Given the description of an element on the screen output the (x, y) to click on. 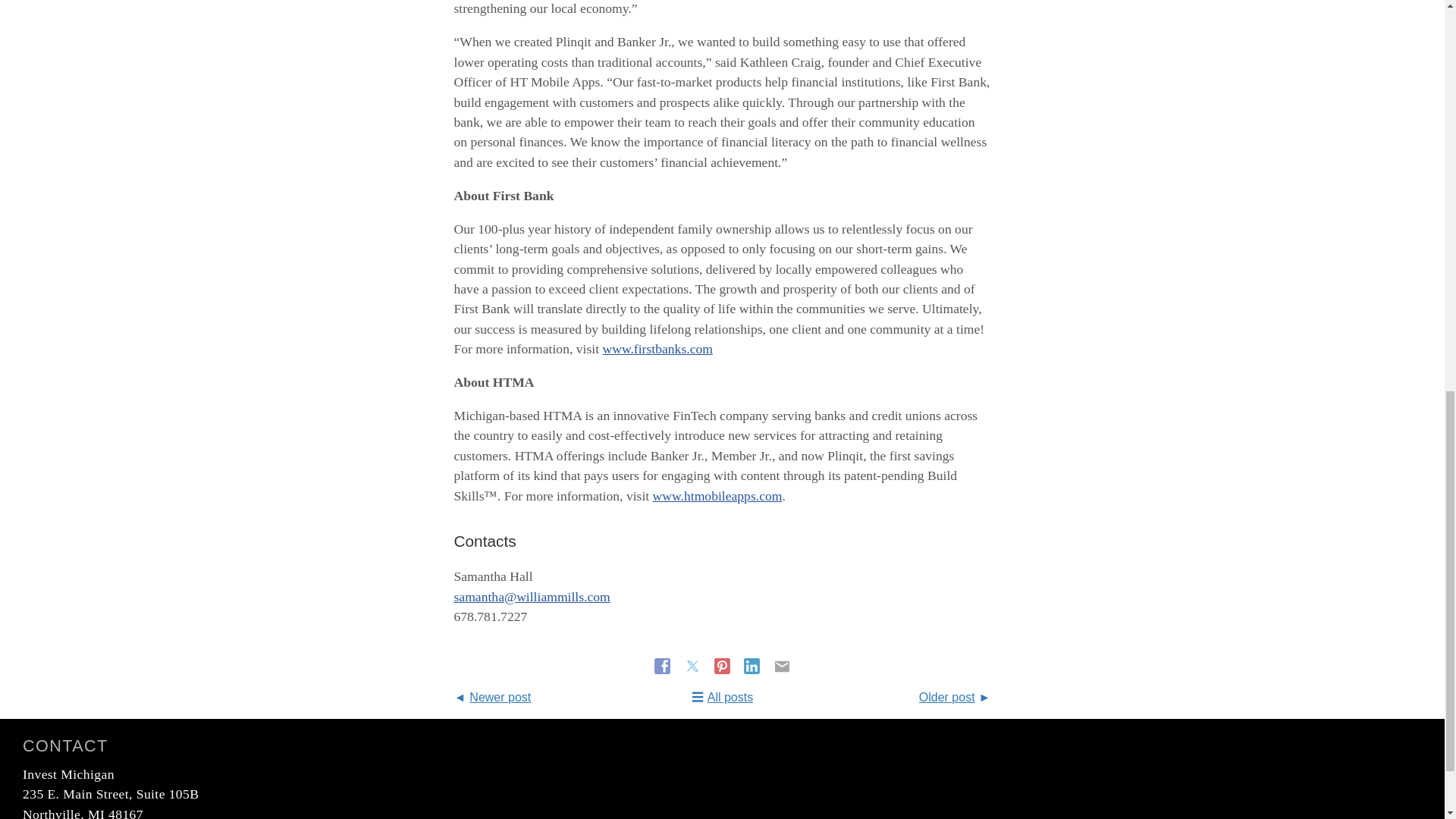
Tweet this (693, 666)
Older post (954, 697)
Share on LinkedIn (753, 666)
Save on Pinterest (724, 666)
www.htmobileapps.com (717, 495)
Share in an email (782, 666)
Newer post (491, 697)
Share on Facebook (663, 666)
www.firstbanks.com (656, 348)
All posts (721, 697)
